Given the description of an element on the screen output the (x, y) to click on. 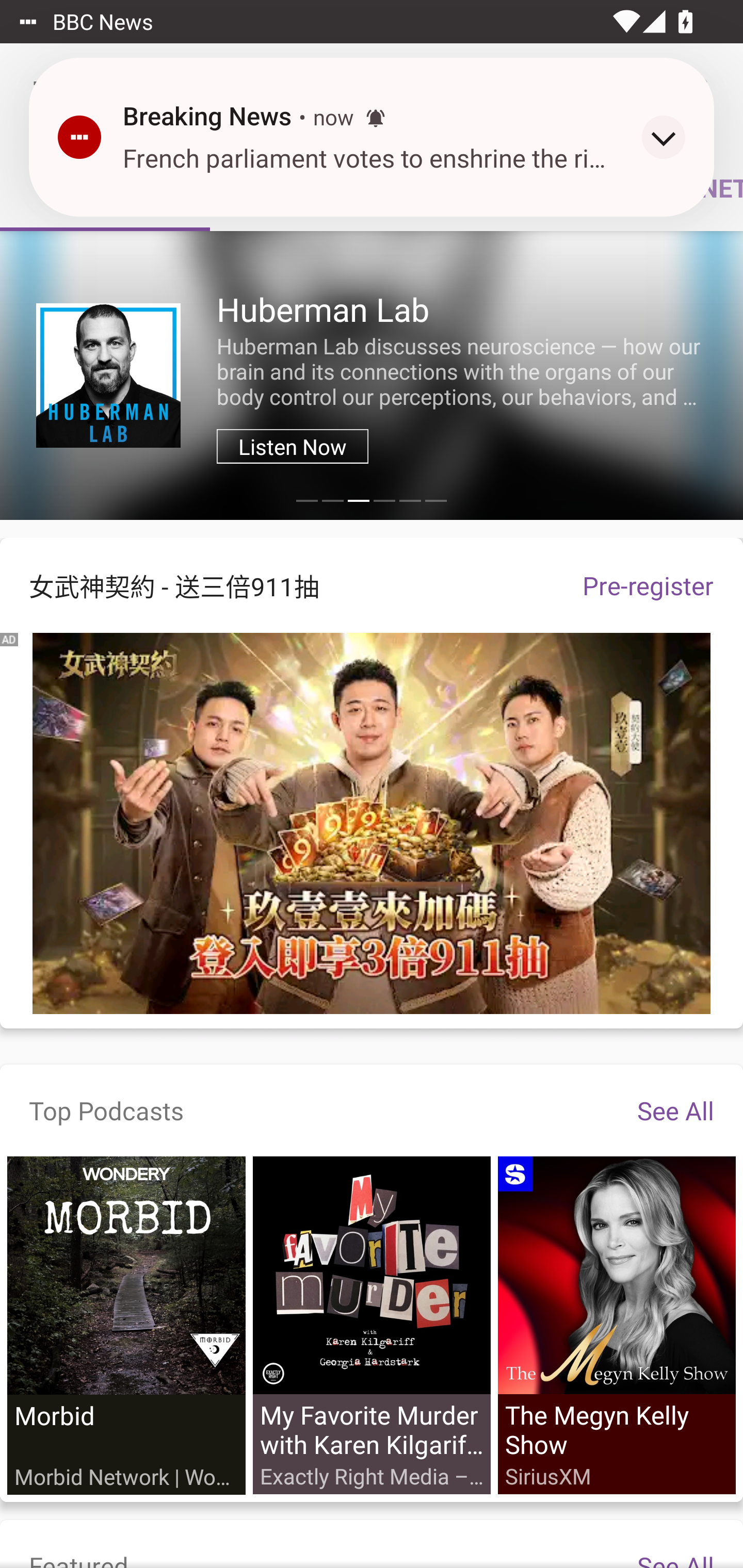
女武神契約 - 送三倍911抽 (276, 585)
Pre-register (648, 584)
Top Podcasts (106, 1109)
See All (675, 1109)
Morbid Morbid Network | Wondery (126, 1325)
The Megyn Kelly Show SiriusXM (616, 1325)
